Given the description of an element on the screen output the (x, y) to click on. 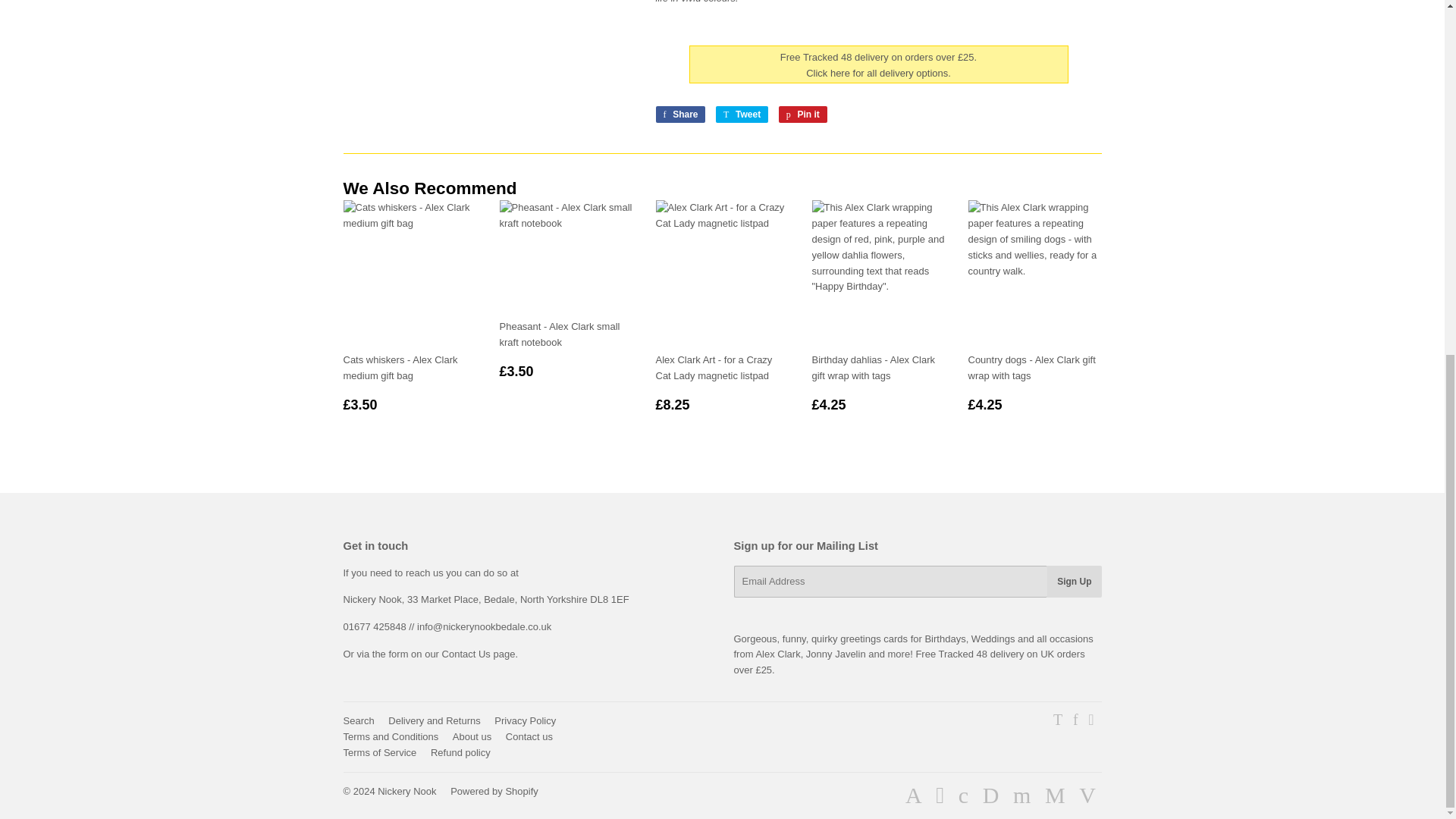
Share on Facebook (679, 114)
Contact us (478, 654)
Pin on Pinterest (802, 114)
Tweet on Twitter (742, 114)
